Given the description of an element on the screen output the (x, y) to click on. 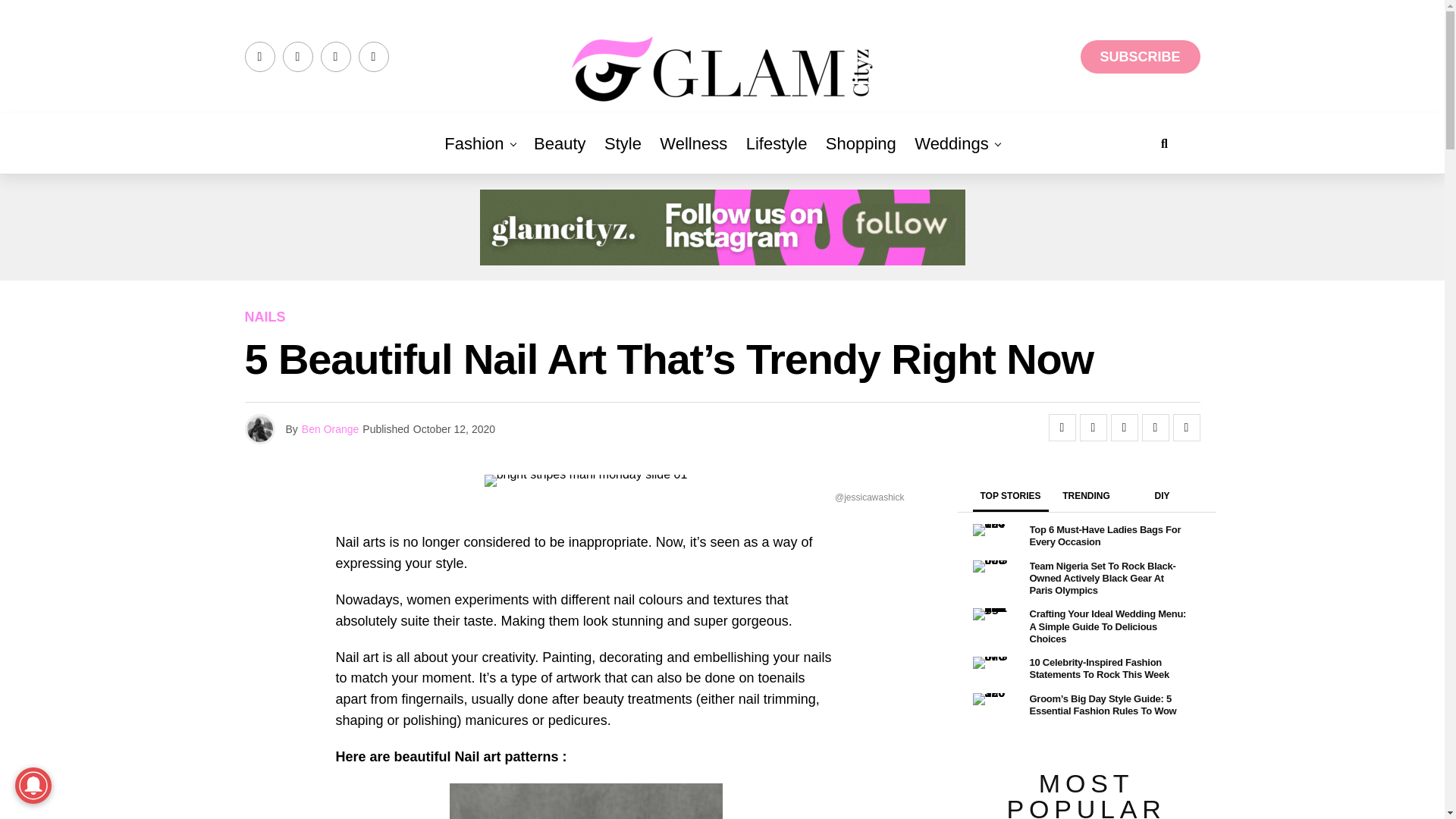
Fashion (473, 143)
SUBSCRIBE (1139, 56)
Beauty (559, 143)
Tweet This Post (1093, 427)
Wellness (693, 143)
Share on Facebook (1061, 427)
Posts by Ben Orange (330, 428)
Style (622, 143)
